Given the description of an element on the screen output the (x, y) to click on. 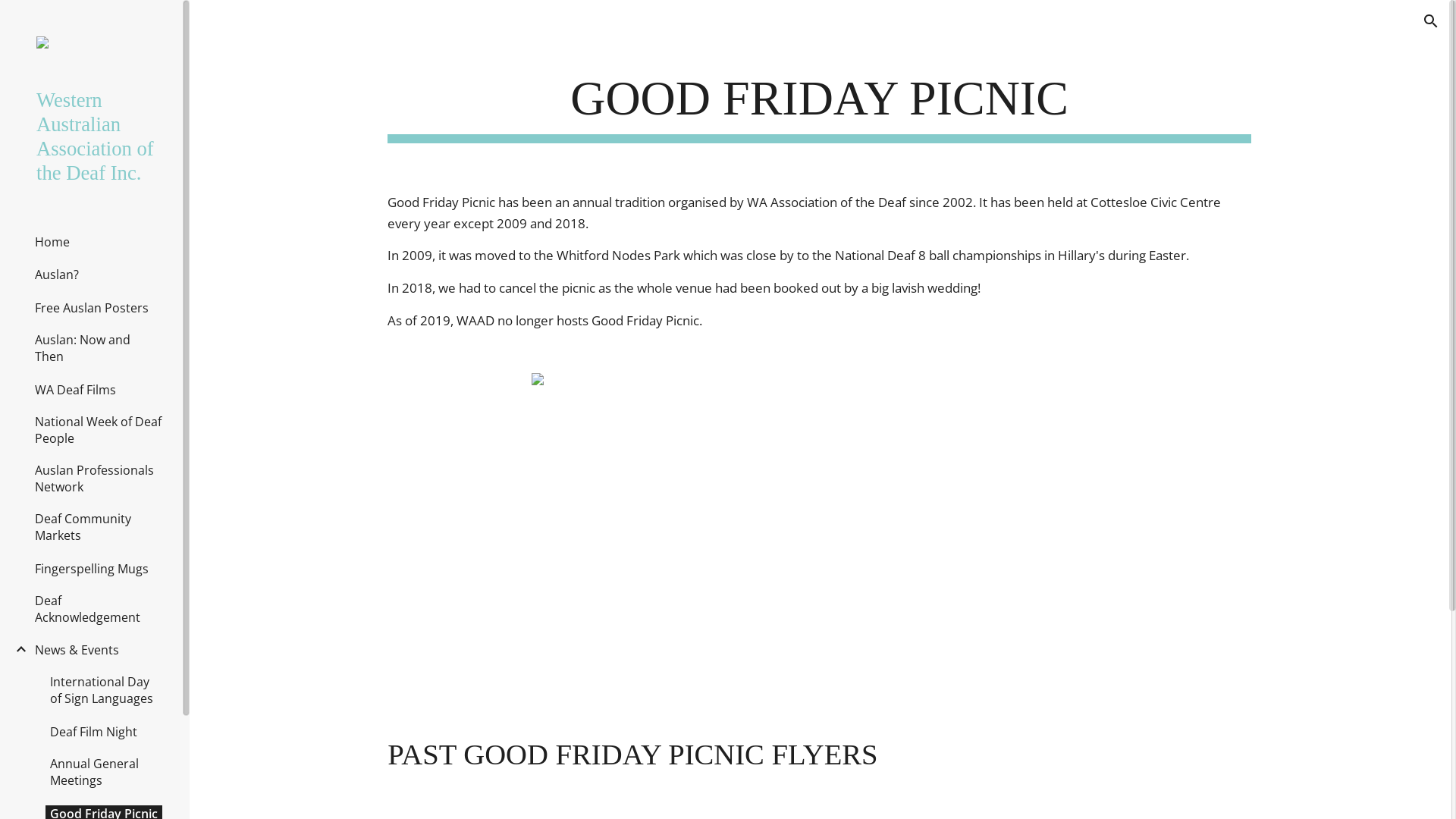
Auslan Professionals Network Element type: text (98, 478)
Fingerspelling Mugs Element type: text (91, 568)
News & Events Element type: text (76, 649)
International Day of Sign Languages Element type: text (106, 689)
Deaf Acknowledgement Element type: text (98, 608)
Free Auslan Posters Element type: text (91, 307)
Deaf Film Night Element type: text (93, 731)
WA Deaf Films Element type: text (75, 389)
National Week of Deaf People Element type: text (98, 429)
Annual General Meetings Element type: text (106, 771)
Western Australian Association of the Deaf Inc. Element type: text (97, 136)
Auslan: Now and Then Element type: text (98, 347)
Home Element type: text (52, 241)
Expand/Collapse Element type: hover (16, 649)
Deaf Community Markets Element type: text (98, 526)
Auslan? Element type: text (56, 274)
